Given the description of an element on the screen output the (x, y) to click on. 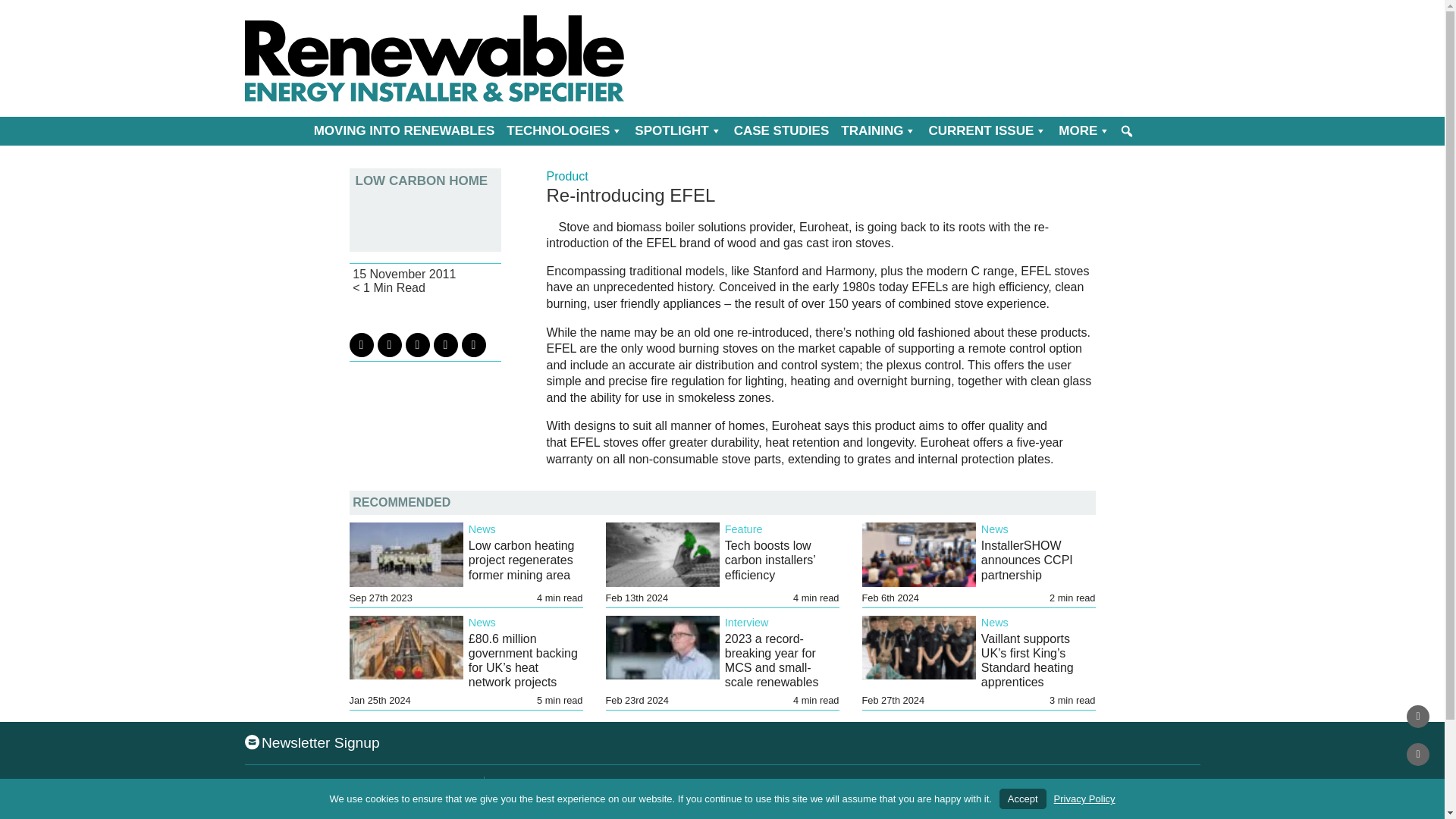
Low carbon heating project regenerates former mining area  (521, 559)
TRAINING (877, 131)
Share on Twitter (360, 344)
CURRENT ISSUE (986, 131)
LOW CARBON HOME (424, 180)
TECHNOLOGIES (564, 131)
InstallerSHOW announces CCPI partnership (1027, 559)
MORE (1084, 131)
